Given the description of an element on the screen output the (x, y) to click on. 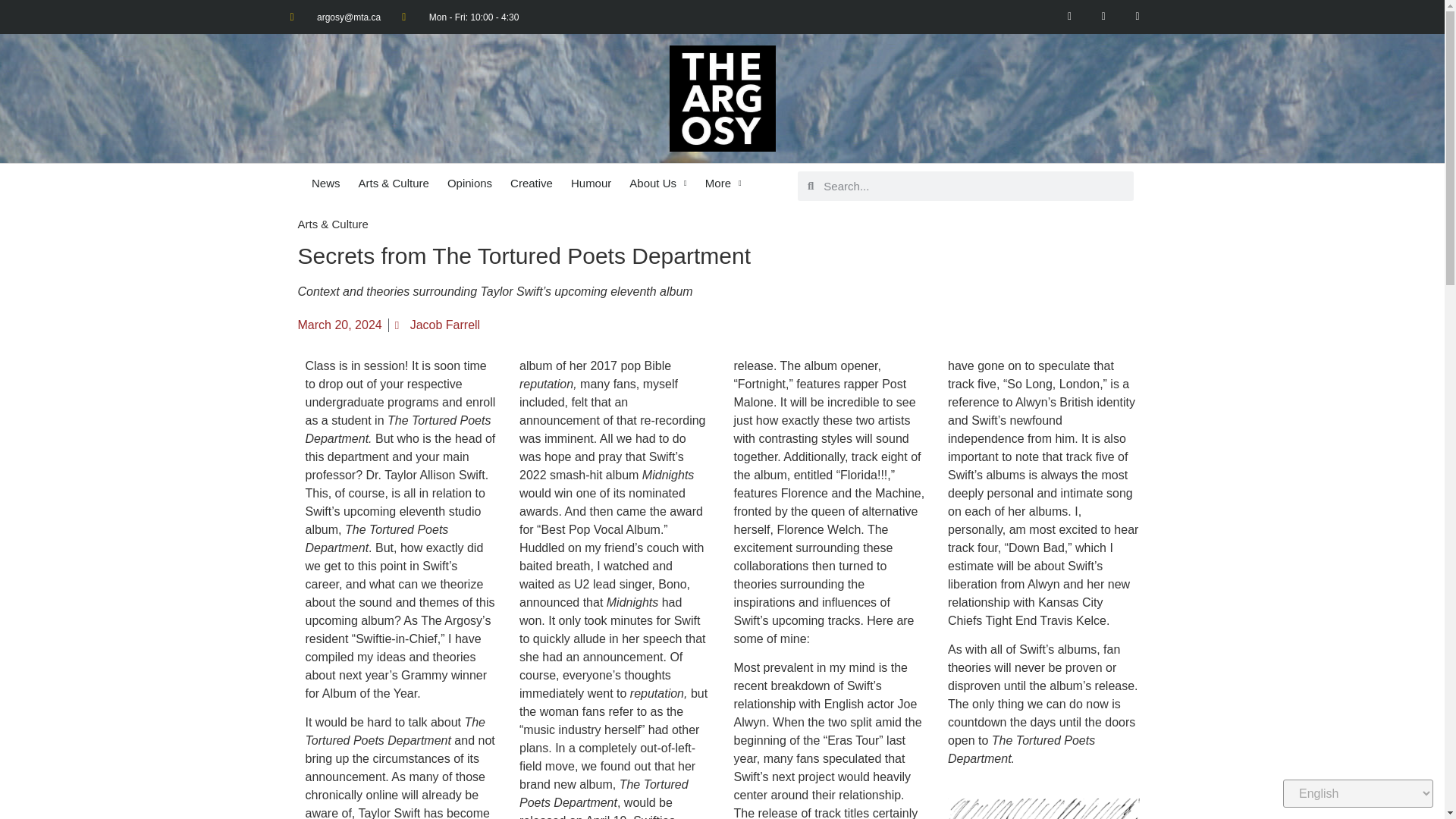
About Us (657, 183)
News (325, 183)
Creative (531, 183)
Opinions (469, 183)
March 20, 2024 (339, 325)
Jacob Farrell (437, 325)
More (723, 183)
Humour (591, 183)
